Given the description of an element on the screen output the (x, y) to click on. 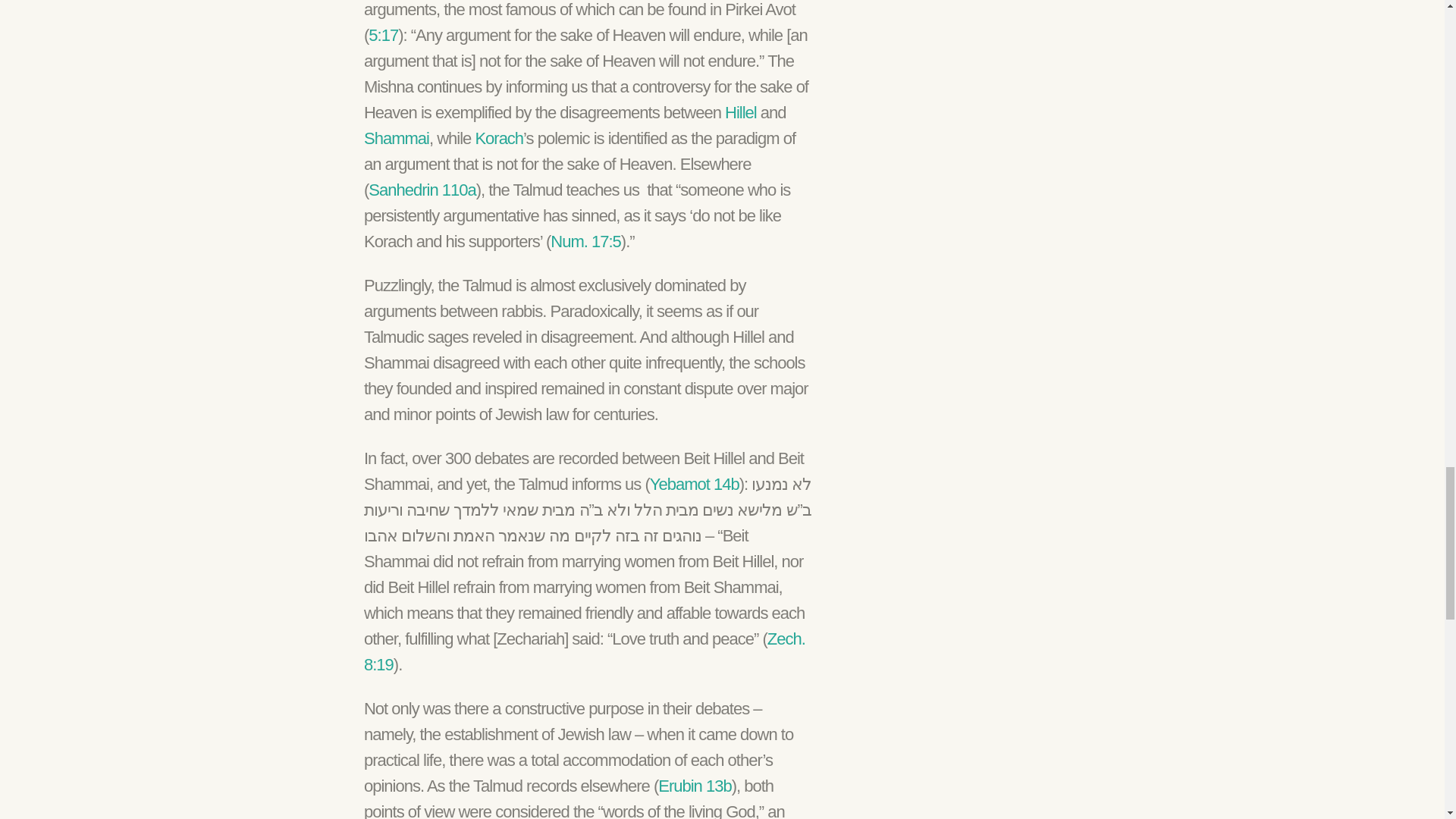
Sanhedrin 110a (422, 189)
5:17 (382, 35)
Hillel (741, 112)
Shammai (396, 138)
Num. 17:5 (585, 240)
Korach (498, 138)
